Given the description of an element on the screen output the (x, y) to click on. 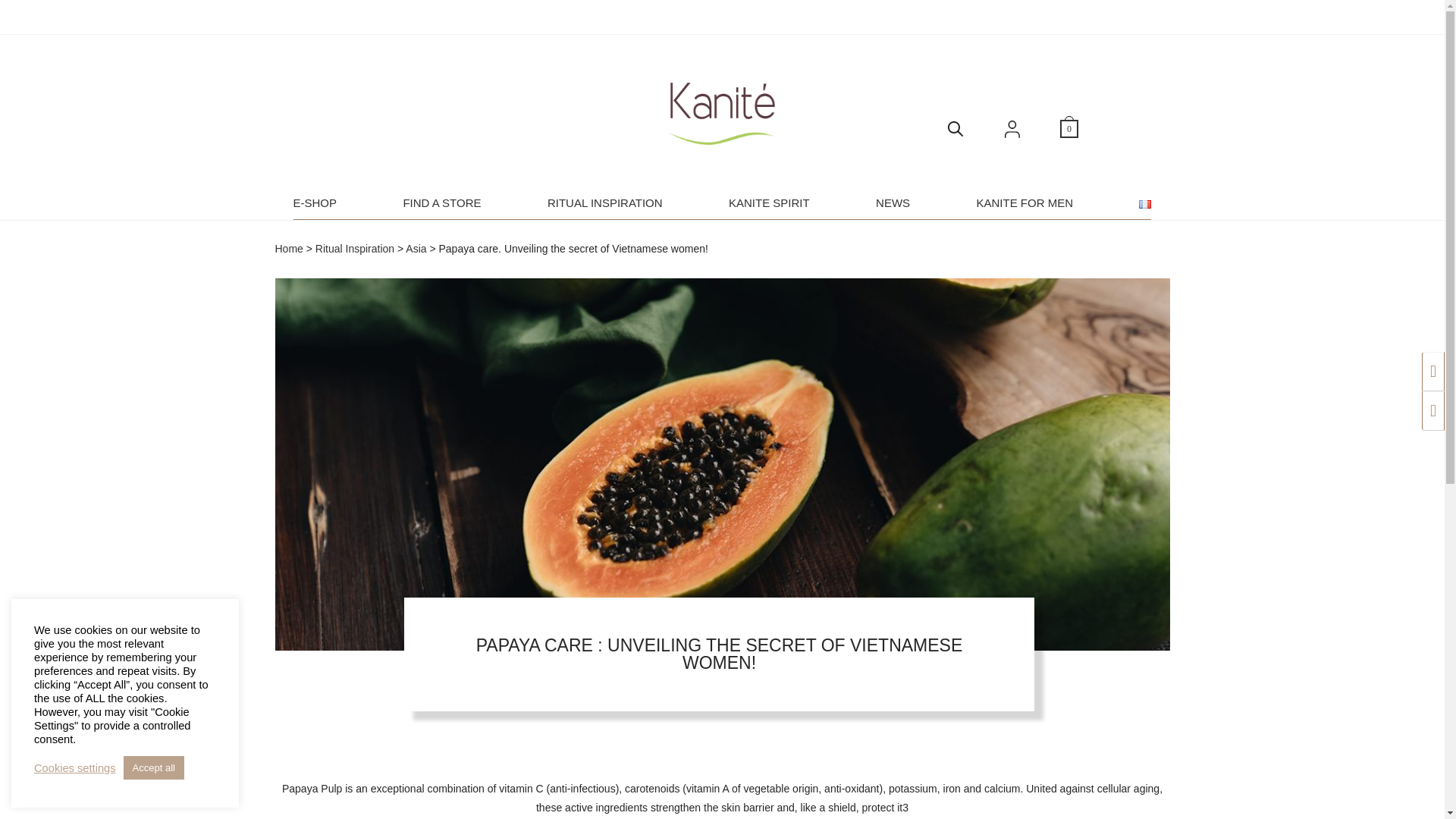
KANITE FOR MEN (1025, 202)
E-SHOP (314, 202)
FIND A STORE (441, 202)
NEWS (893, 202)
Asia (416, 248)
RITUAL INSPIRATION (604, 202)
Home (288, 248)
0 (1068, 127)
KANITE SPIRIT (769, 202)
Ritual Inspiration (354, 248)
